Given the description of an element on the screen output the (x, y) to click on. 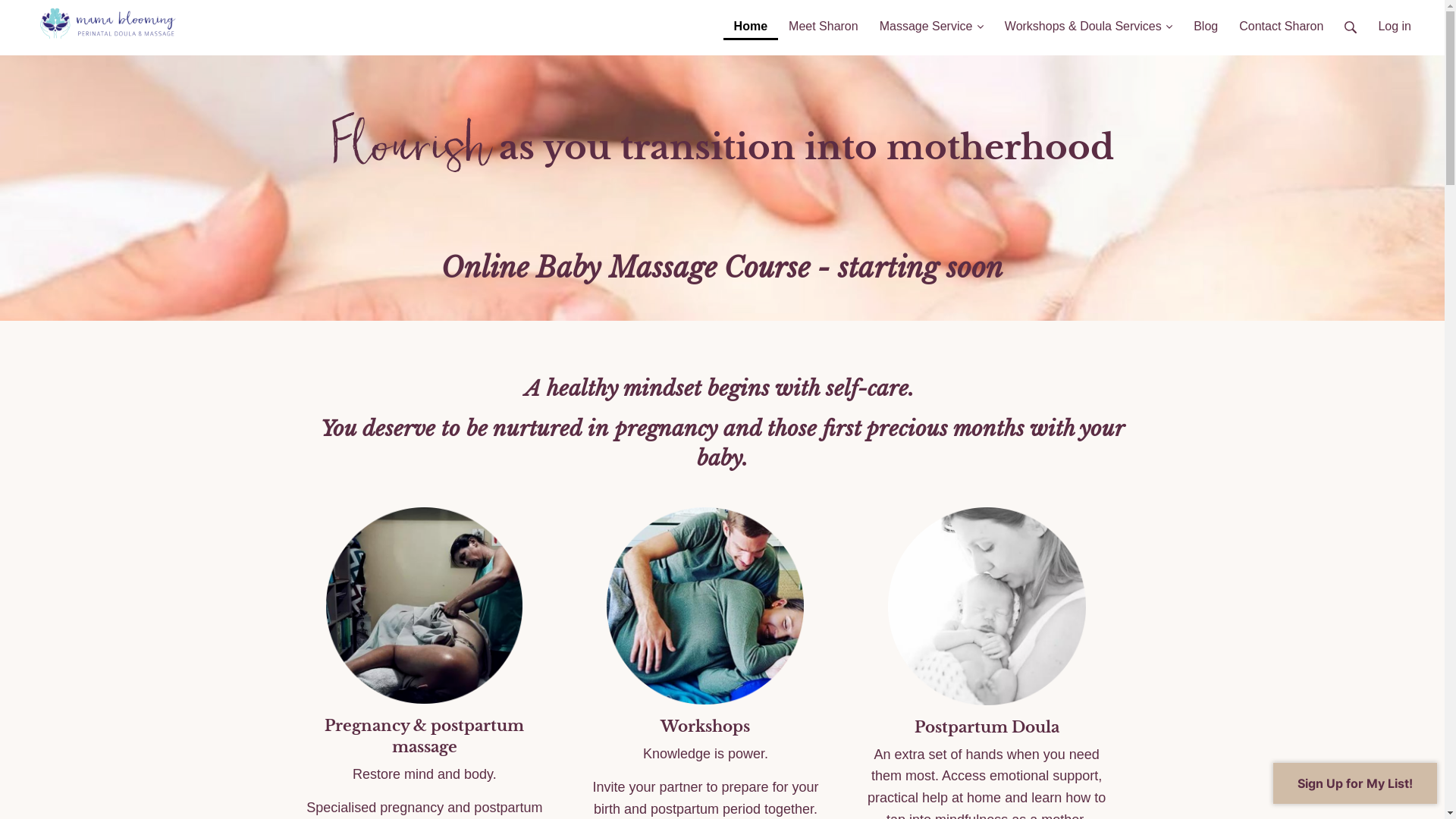
Home
(current) Element type: text (750, 20)
Log in Element type: text (1394, 20)
Meet Sharon Element type: text (823, 20)
Massage Service Element type: text (931, 20)
Blog Element type: text (1205, 20)
Workshops & Doula Services Element type: text (1088, 20)
Contact Sharon Element type: text (1280, 20)
